Given the description of an element on the screen output the (x, y) to click on. 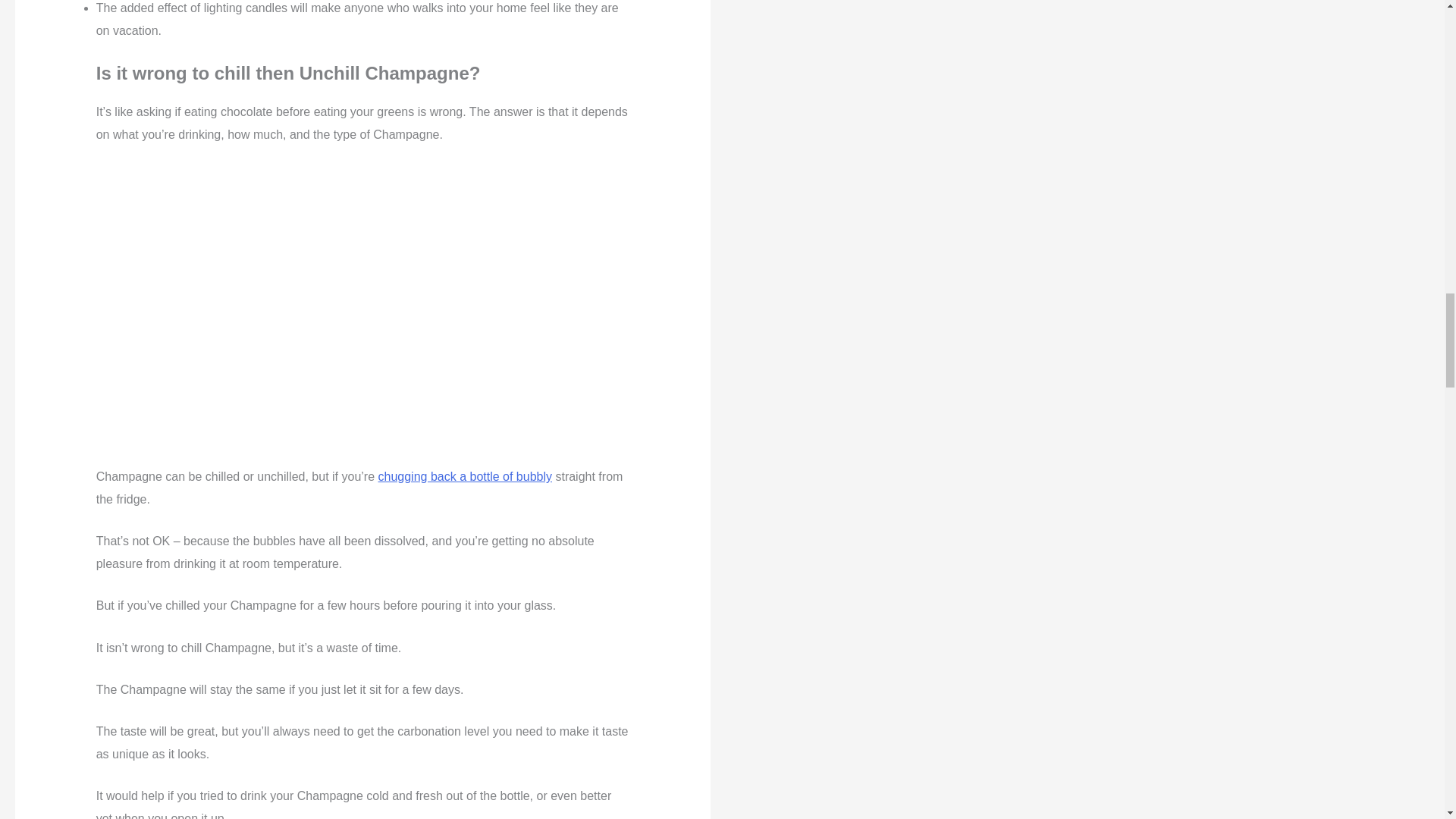
chugging back a bottle of bubbly (464, 476)
